Given the description of an element on the screen output the (x, y) to click on. 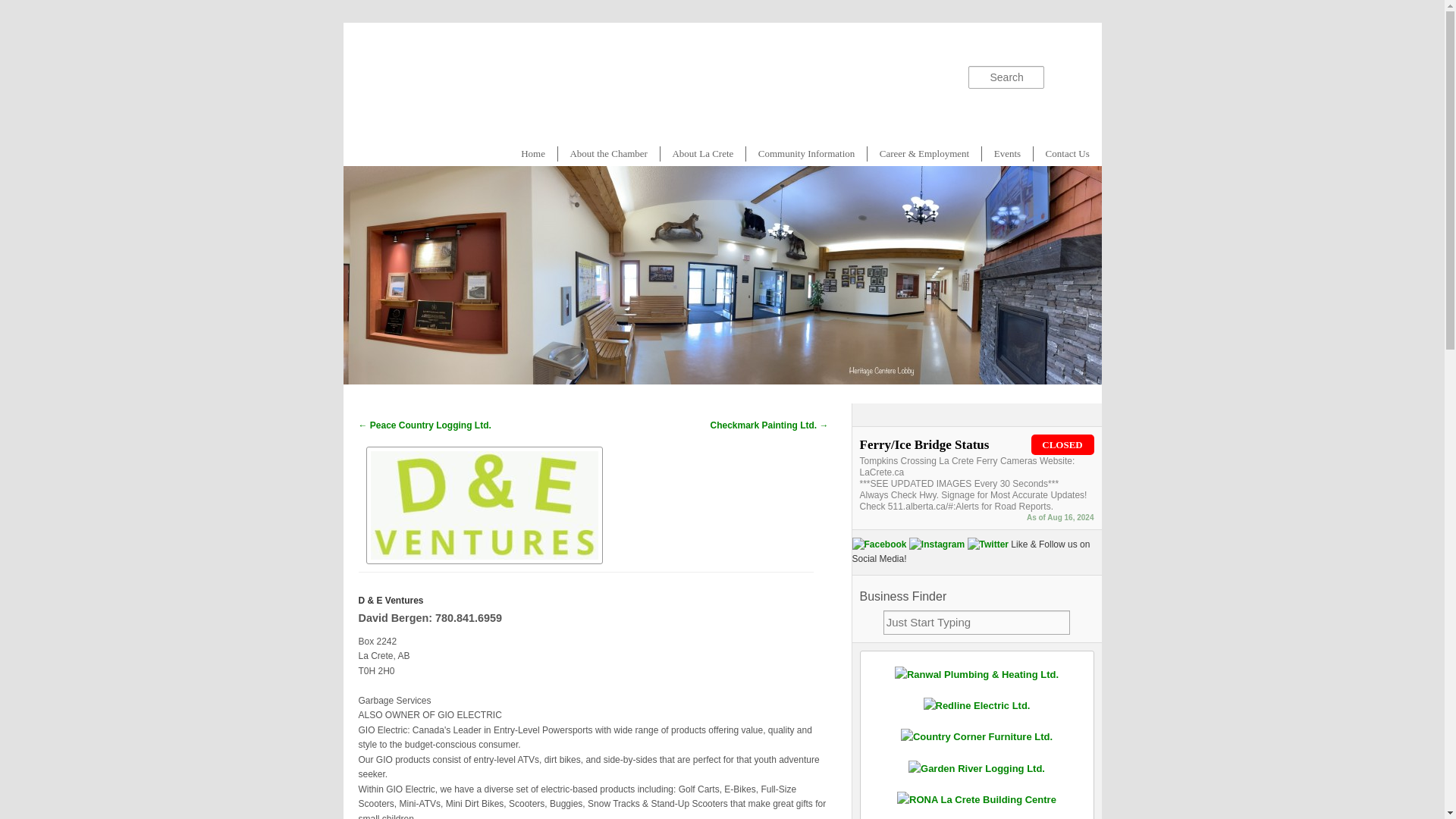
Skip to primary content (409, 153)
About the Chamber (608, 153)
Skip to secondary content (414, 153)
Events (1006, 153)
Twitter (988, 544)
Skip to primary content (409, 153)
Community Information (805, 153)
Skip to secondary content (414, 153)
About La Crete (703, 153)
Facebook (879, 544)
